Given the description of an element on the screen output the (x, y) to click on. 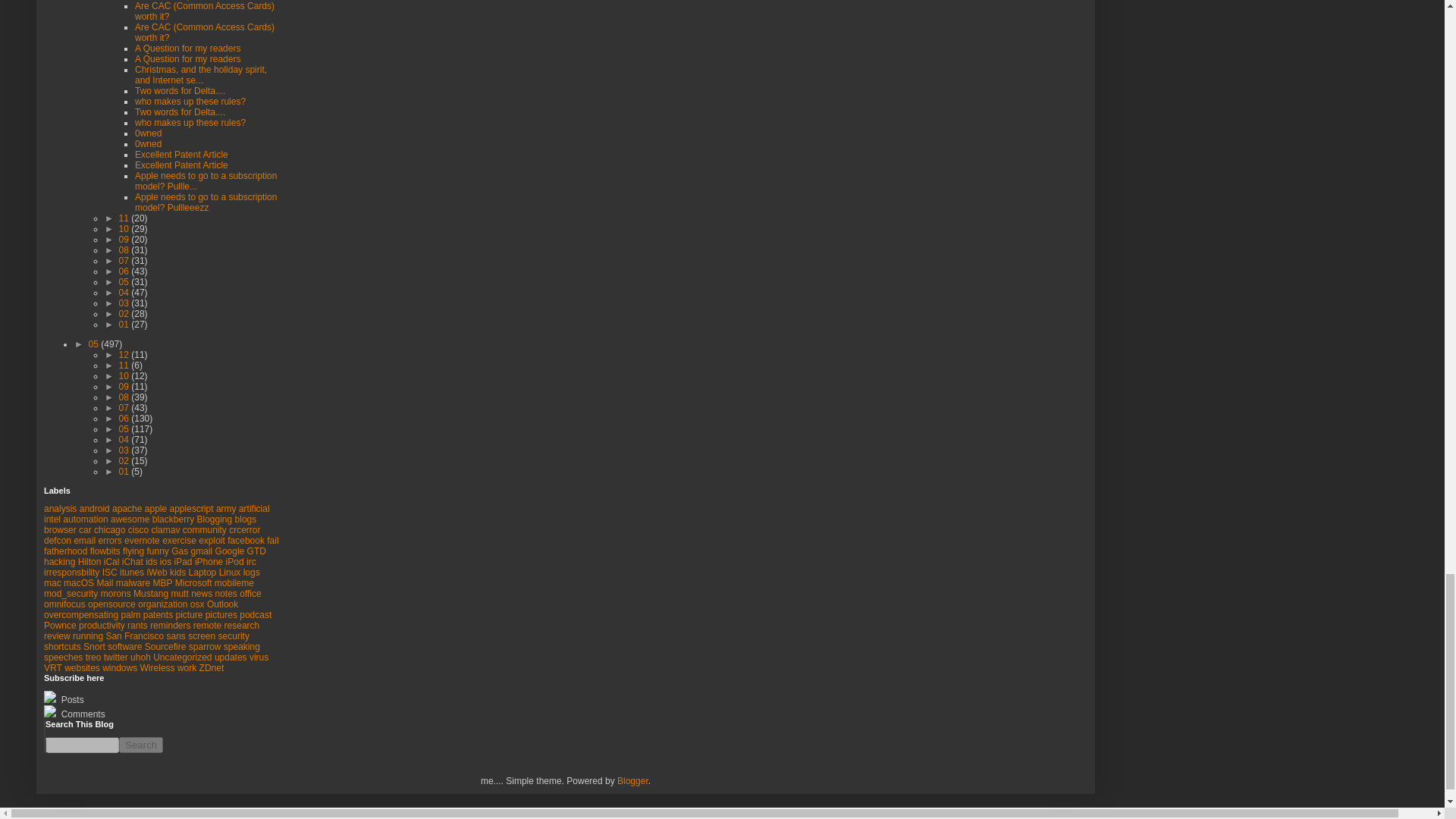
Search (141, 744)
search (82, 744)
search (141, 744)
Search (141, 744)
